Given the description of an element on the screen output the (x, y) to click on. 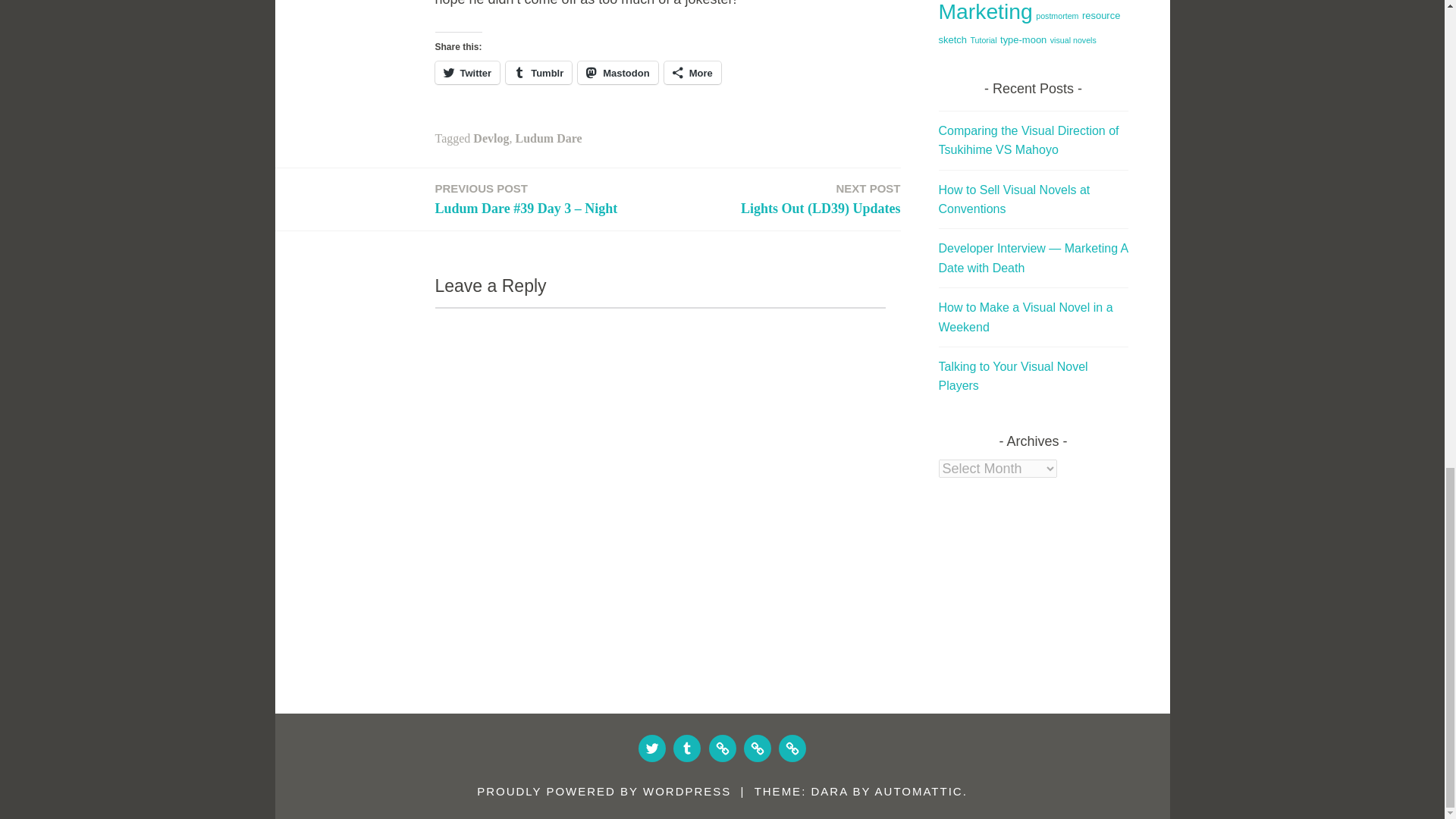
Mastodon (618, 72)
Ludum Dare (547, 137)
Click to share on Tumblr (538, 72)
Click to share on Mastodon (618, 72)
Devlog (490, 137)
More (691, 72)
Twitter (467, 72)
Click to share on Twitter (467, 72)
Tumblr (538, 72)
